Given the description of an element on the screen output the (x, y) to click on. 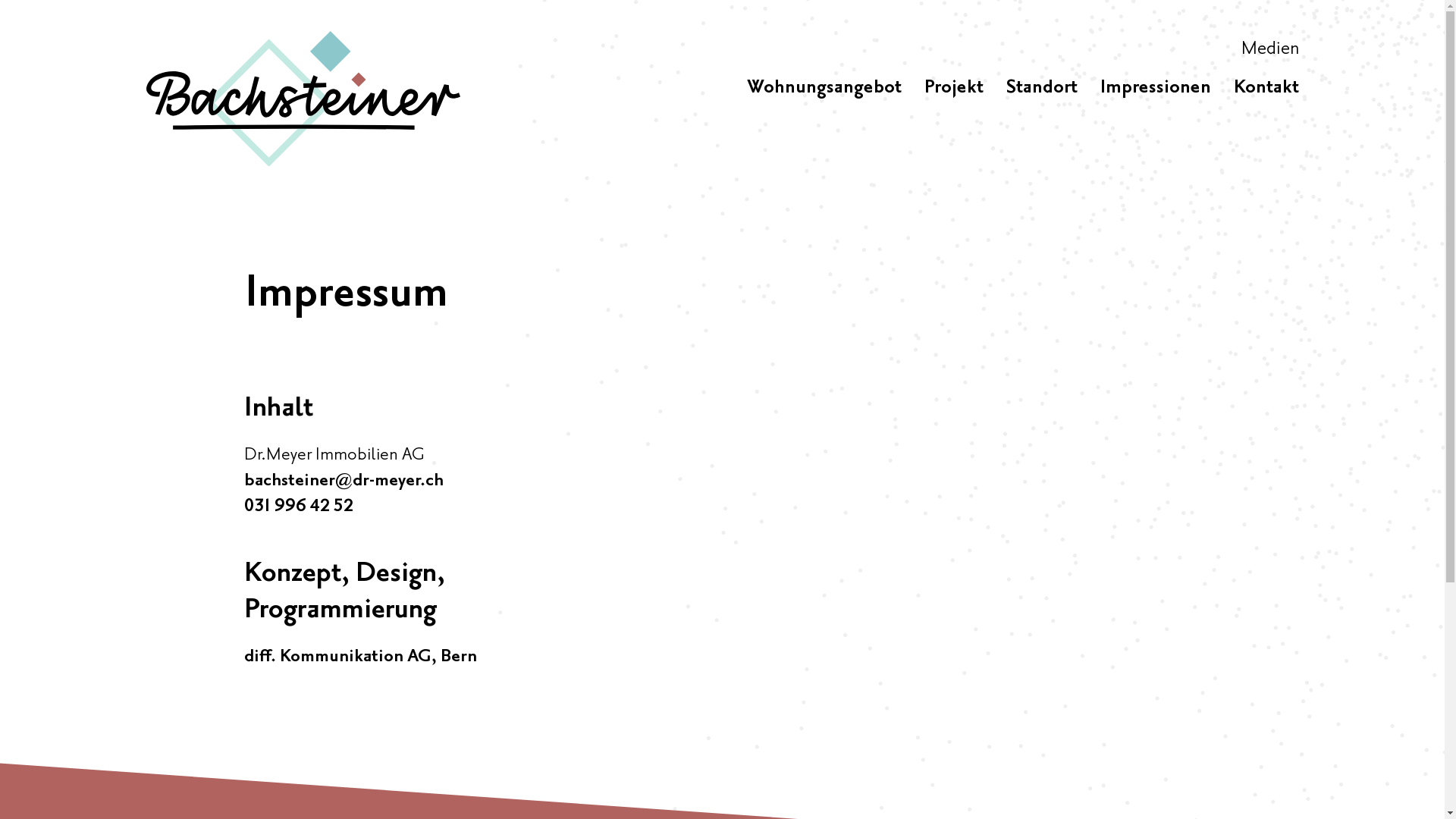
bachsteiner@dr-meyer.ch Element type: text (343, 480)
Impressionen Element type: text (1154, 87)
Medien Element type: text (1269, 48)
Wohnungsangebot Element type: text (823, 87)
031 996 42 52 Element type: text (298, 506)
Standort Element type: text (1040, 87)
Projekt Element type: text (952, 87)
Kontakt Element type: text (1265, 87)
diff. Kommunikation AG, Bern Element type: text (360, 656)
